Given the description of an element on the screen output the (x, y) to click on. 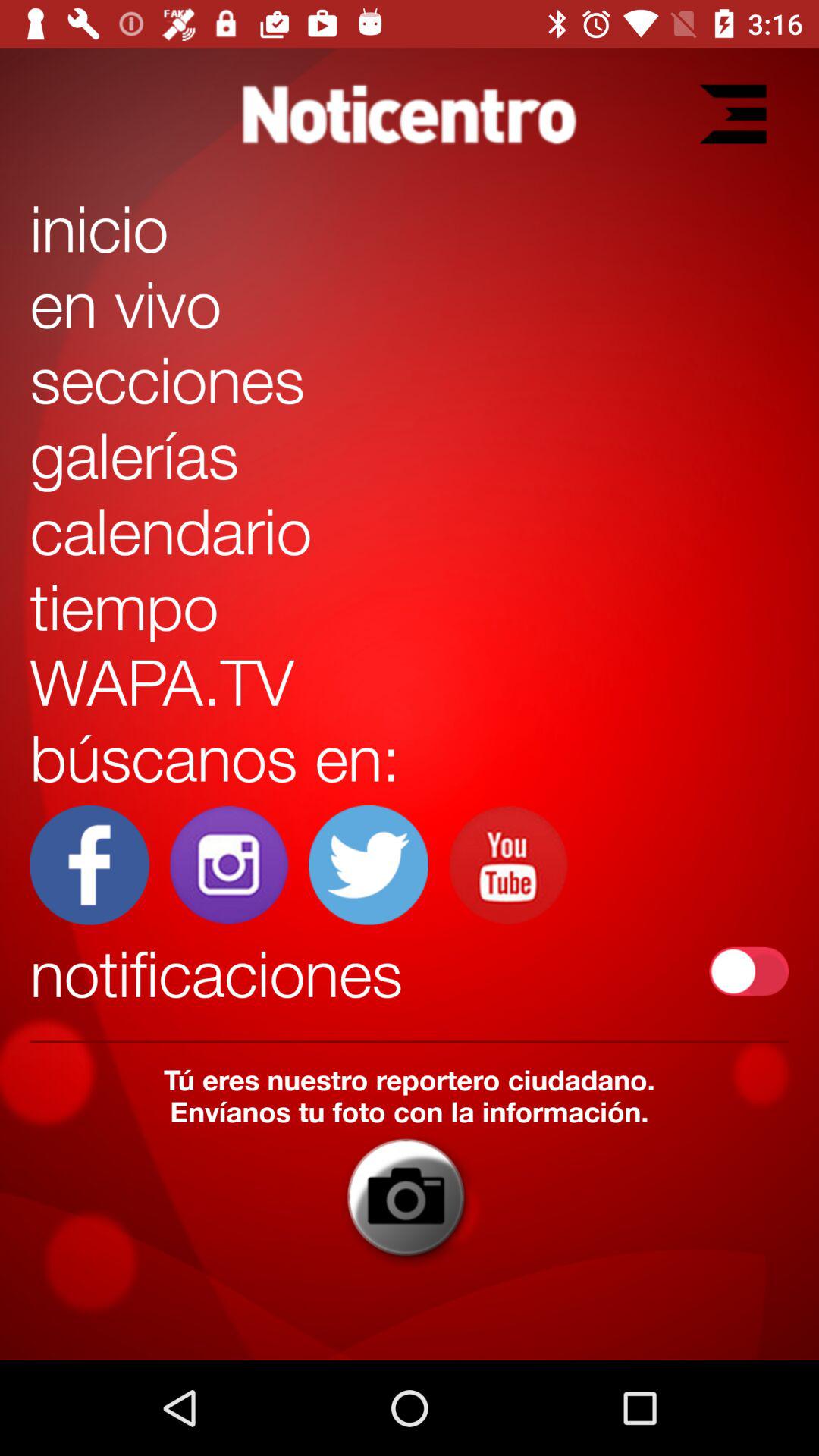
menu icon (732, 113)
